Given the description of an element on the screen output the (x, y) to click on. 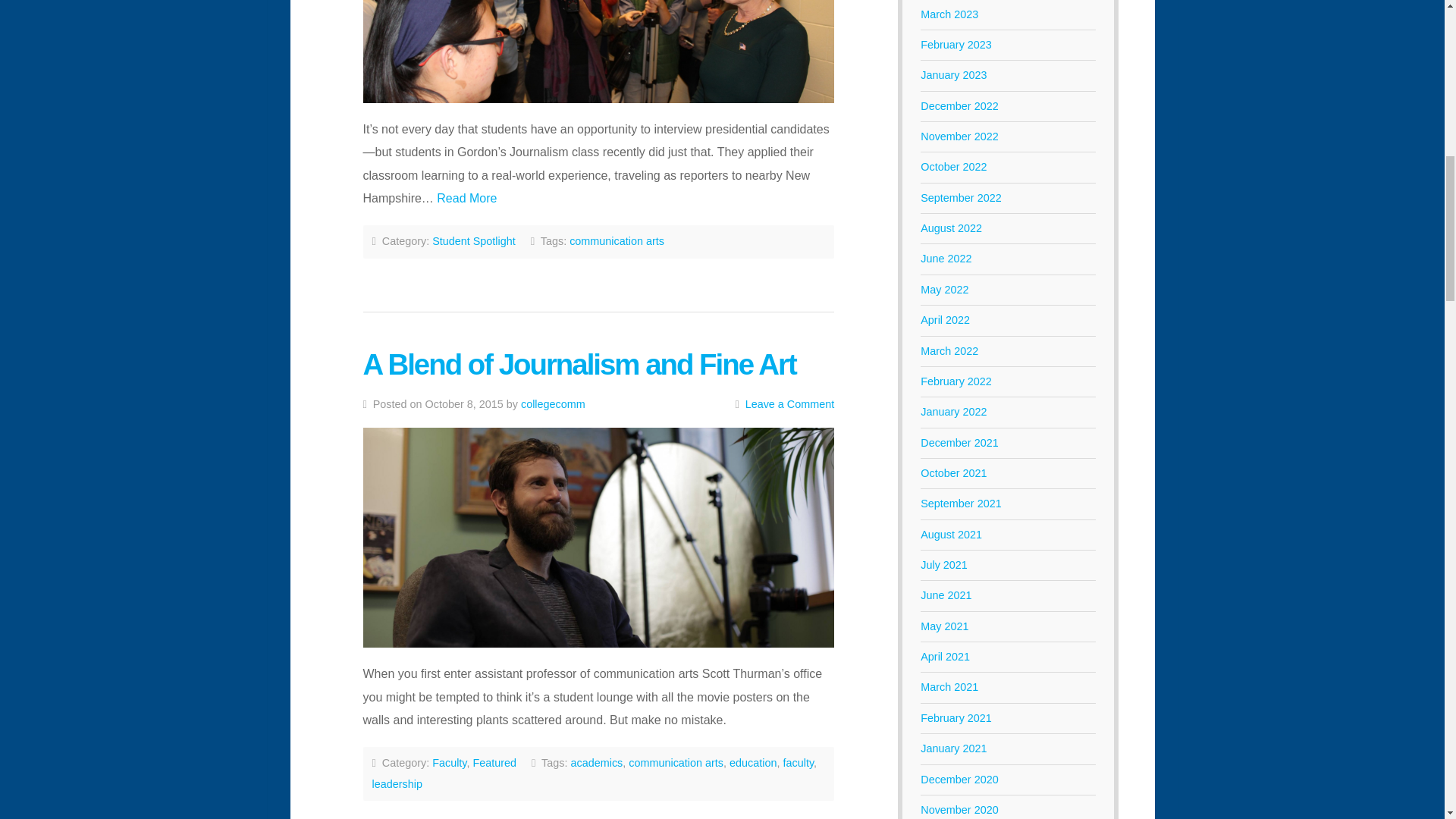
academics (596, 762)
collegecomm (553, 404)
Faculty (448, 762)
leadership (396, 784)
Student Spotlight (473, 241)
communication arts (675, 762)
education (752, 762)
Posts by collegecomm (553, 404)
Permalink to A Blend of Journalism and Fine Art (598, 537)
A Blend of Journalism and Fine Art (578, 364)
Read More (466, 197)
faculty (798, 762)
communication arts (616, 241)
Featured (493, 762)
Leave a Comment (789, 404)
